Given the description of an element on the screen output the (x, y) to click on. 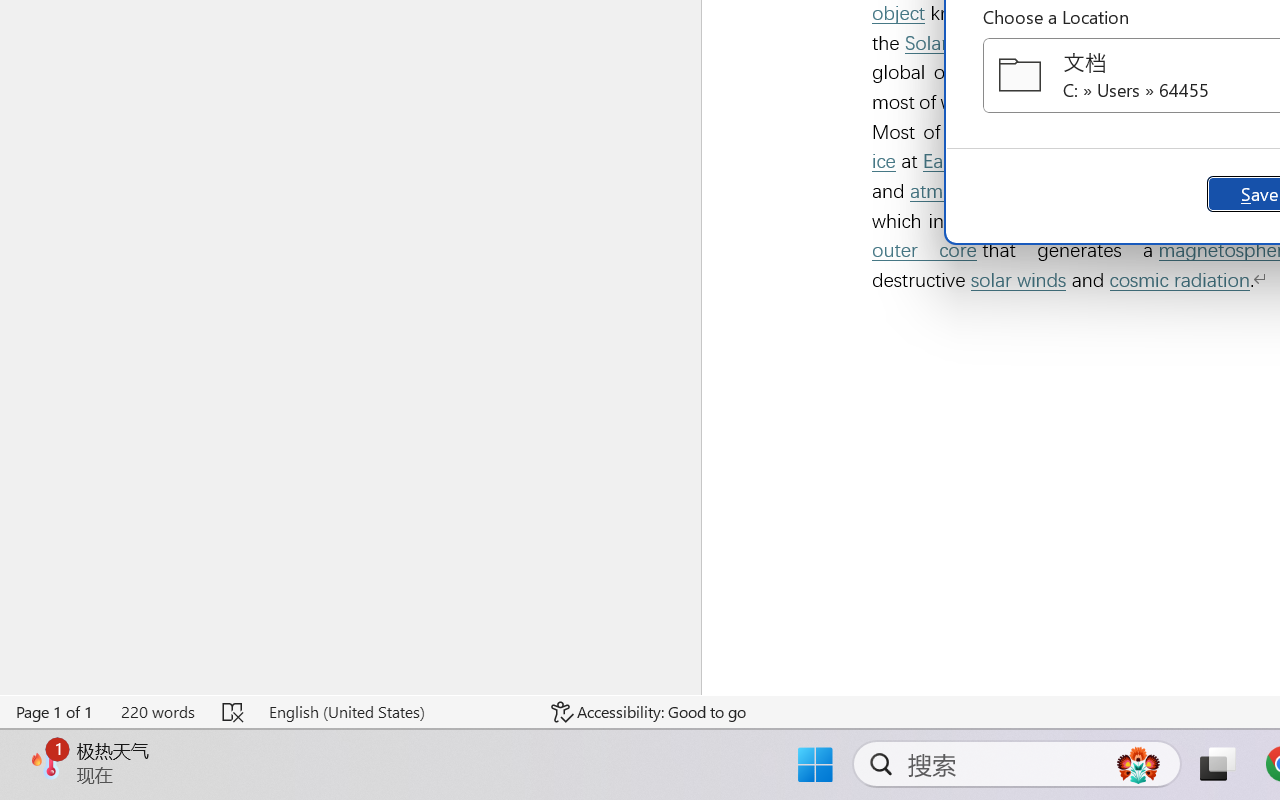
cosmic radiation (1179, 280)
solar winds (1018, 280)
Spelling and Grammar Check Errors (234, 712)
